Given the description of an element on the screen output the (x, y) to click on. 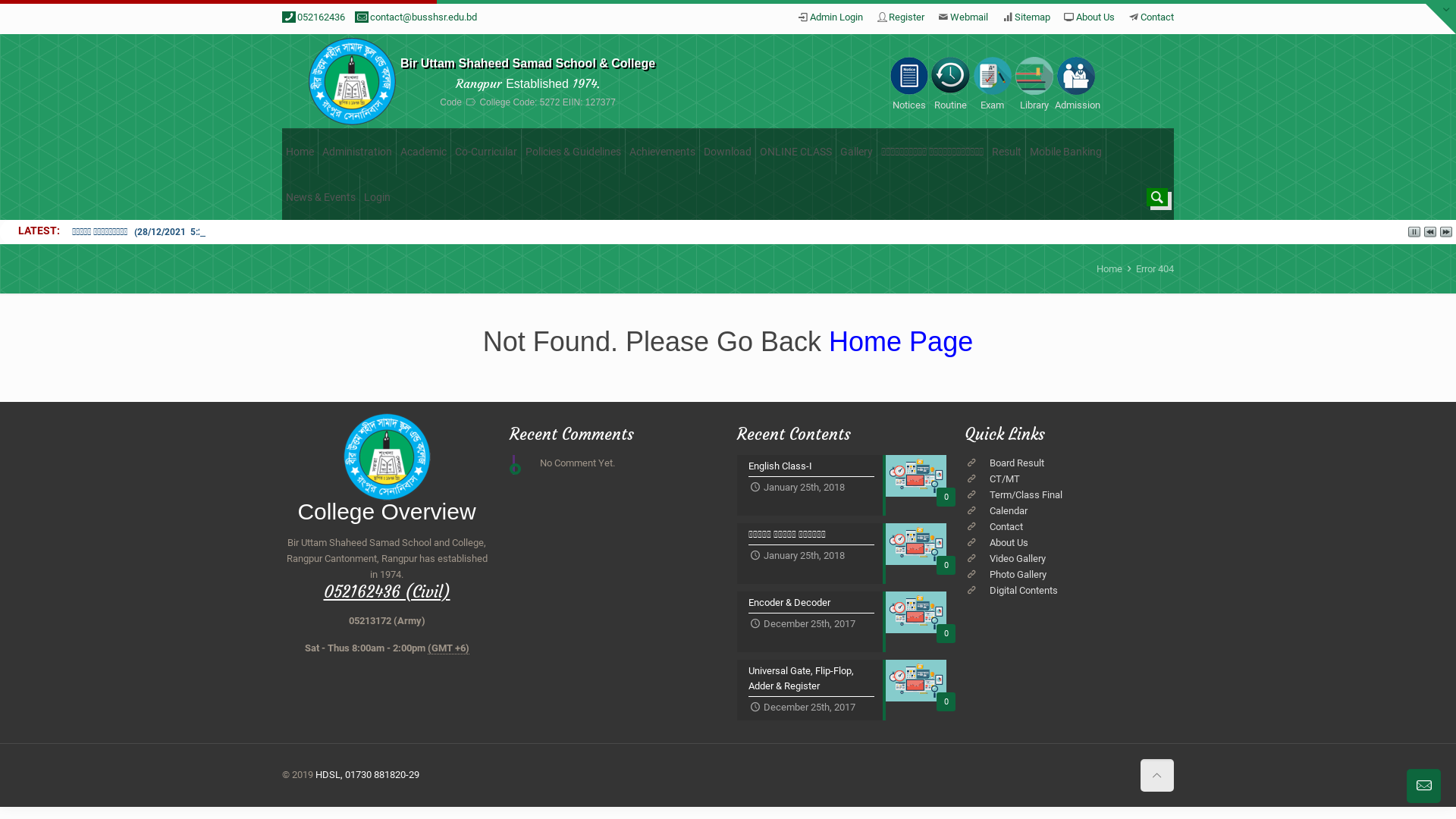
Administration Element type: text (357, 151)
Photo Gallery Element type: text (1017, 574)
Exam Element type: text (992, 81)
Admin Login Element type: text (835, 16)
Contact Element type: text (1006, 526)
Term/Class Final Element type: text (1025, 494)
0
English Class-I
January 25th, 2018 Element type: text (841, 485)
contact@busshsr.edu.bd Element type: text (423, 16)
Bir Uttam Shaheed Samad School & College Element type: text (527, 62)
Contact Element type: text (1156, 16)
0
Encoder & Decoder
December 25th, 2017 Element type: text (841, 621)
Login Element type: text (377, 196)
Routine Element type: text (950, 81)
Home Element type: text (300, 151)
Mobile Banking Element type: text (1066, 151)
News & Events Element type: text (321, 196)
About Us Element type: text (1008, 542)
Policies & Guidelines Element type: text (573, 151)
Digital Contents Element type: text (1023, 590)
Download Element type: text (727, 151)
Webmail Element type: text (969, 16)
Home Page Element type: text (896, 341)
Board Result Element type: text (1016, 462)
Library Element type: text (1033, 81)
Home Element type: text (1109, 268)
Calendar Element type: text (1008, 510)
CT/MT Element type: text (1004, 478)
HDSL, 01730 881820-29 Element type: text (367, 774)
Admission Element type: text (1075, 81)
Notices Element type: text (908, 81)
Sitemap Element type: text (1032, 16)
Video Gallery Element type: text (1017, 558)
052162436 Element type: text (321, 16)
Edu Institute Element type: hover (351, 81)
Academic Element type: text (423, 151)
Result Element type: text (1007, 151)
Achievements Element type: text (662, 151)
Register Element type: text (906, 16)
ONLINE CLASS Element type: text (796, 151)
Gallery Element type: text (856, 151)
About Us Element type: text (1095, 16)
Co-Curricular Element type: text (486, 151)
